Given the description of an element on the screen output the (x, y) to click on. 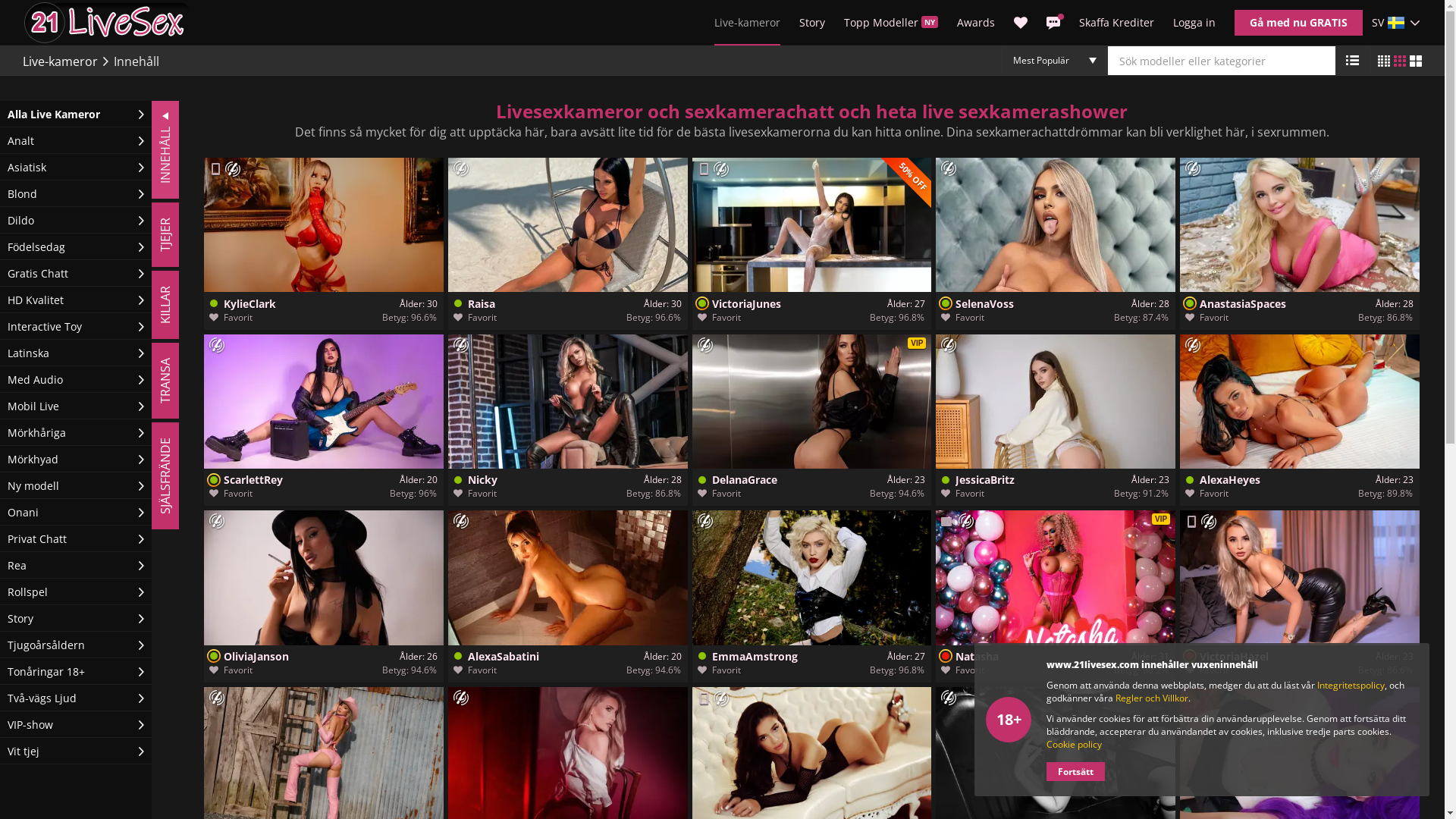
Regler och Villkor Element type: text (1151, 697)
Skaffa Krediter Element type: text (1116, 22)
Dildo Element type: text (75, 220)
TRANSA Element type: text (189, 356)
Live-kameror Element type: text (59, 61)
Med Audio Element type: text (75, 379)
Story Element type: text (75, 618)
Story Element type: text (812, 22)
Rollspel Element type: text (75, 591)
HD Kvalitet Element type: text (75, 299)
Vit tjej Element type: text (75, 750)
Mobil Live Element type: hover (215, 168)
Ny modell Element type: text (75, 485)
Latinska Element type: text (75, 352)
Onani Element type: text (75, 511)
Mobil Live Element type: hover (703, 168)
Mobil Live Element type: text (75, 405)
KILLAR Element type: text (185, 284)
Alla Live Kameror Element type: text (75, 113)
VideoSamtal Element type: hover (947, 520)
Gratis Chatt Element type: text (75, 273)
Cookie policy Element type: text (1073, 743)
Rea Element type: text (75, 565)
Privat Chatt Element type: text (75, 538)
Interactive Toy Element type: text (75, 326)
Awards Element type: text (975, 22)
Analt Element type: text (75, 140)
Topp Modeller NY Element type: text (891, 22)
Live-kameror Element type: text (747, 22)
Meddelanden Element type: hover (1053, 22)
TJEJER Element type: text (183, 215)
Logga in Element type: text (1194, 22)
Integritetspolicy Element type: text (1350, 684)
Blond Element type: text (75, 193)
VIP-show Element type: text (75, 724)
Mobil Live Element type: hover (703, 698)
Asiatisk Element type: text (75, 166)
Mobil Live Element type: hover (1191, 521)
